Given the description of an element on the screen output the (x, y) to click on. 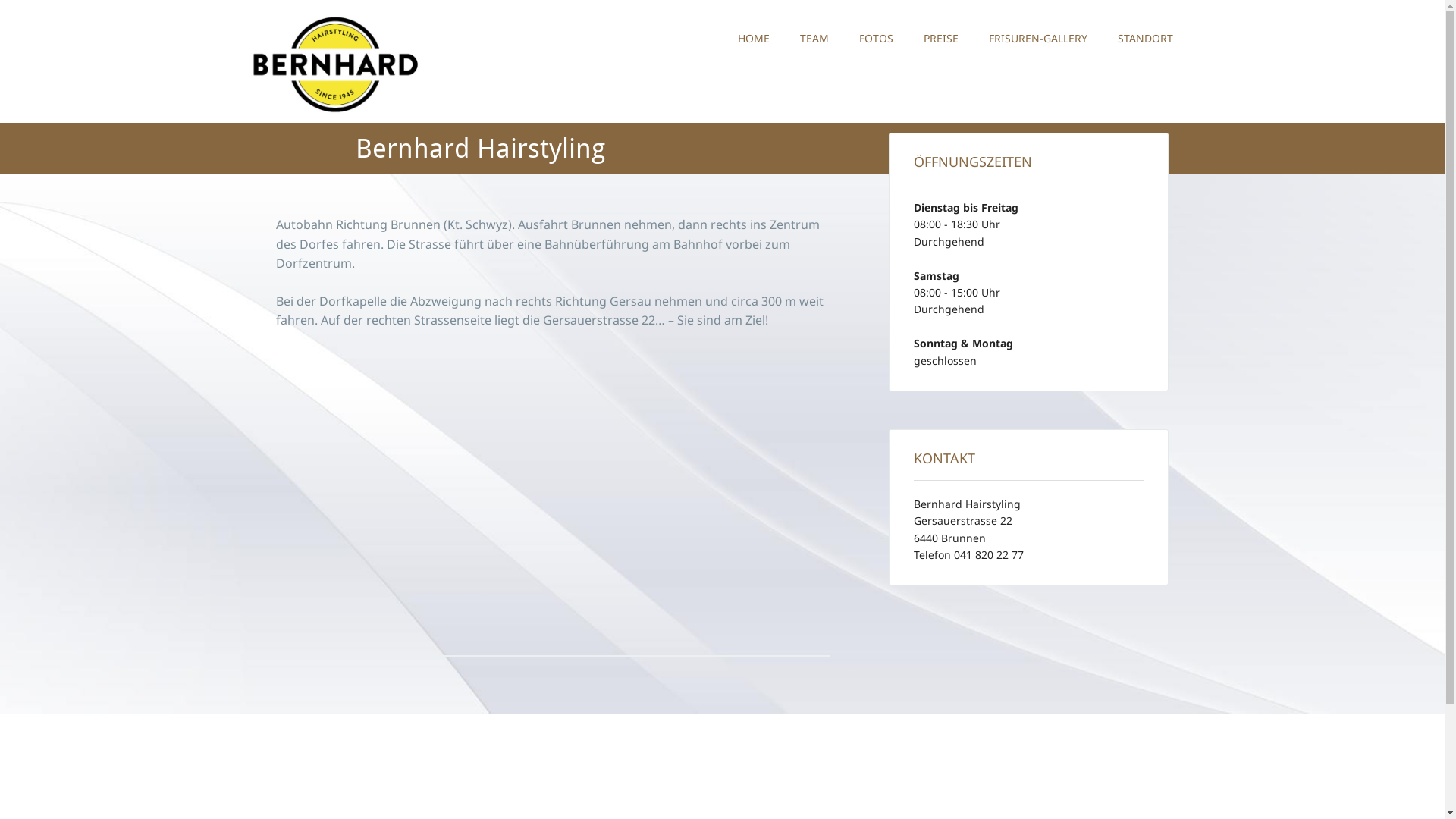
PREISE Element type: text (940, 38)
HOME Element type: text (752, 38)
FOTOS Element type: text (875, 38)
TEAM Element type: text (813, 38)
STANDORT Element type: text (1145, 38)
Skip to content Element type: text (765, 31)
FRISUREN-GALLERY Element type: text (1037, 38)
